Given the description of an element on the screen output the (x, y) to click on. 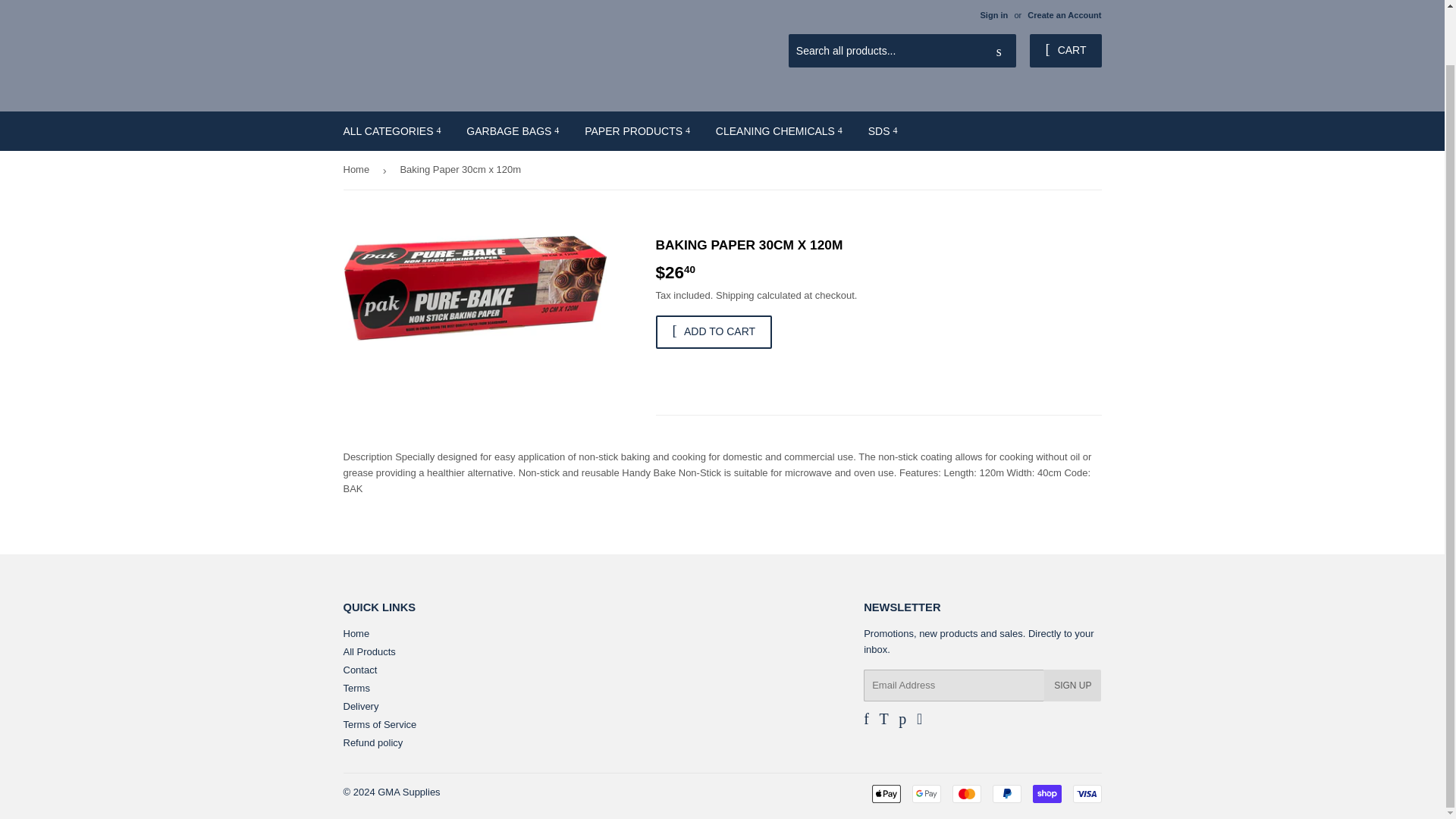
Back to the frontpage (358, 169)
Shop Pay (1046, 793)
Create an Account (1063, 14)
GMA Supplies on Twitter (883, 720)
GMA Supplies on Facebook (866, 720)
GMA Supplies on Pinterest (901, 720)
Search (998, 51)
GMA Supplies on Instagram (919, 720)
CART (1064, 50)
Google Pay (925, 793)
Sign in (993, 14)
Mastercard (966, 793)
Apple Pay (886, 793)
Visa (1085, 793)
PayPal (1005, 793)
